Given the description of an element on the screen output the (x, y) to click on. 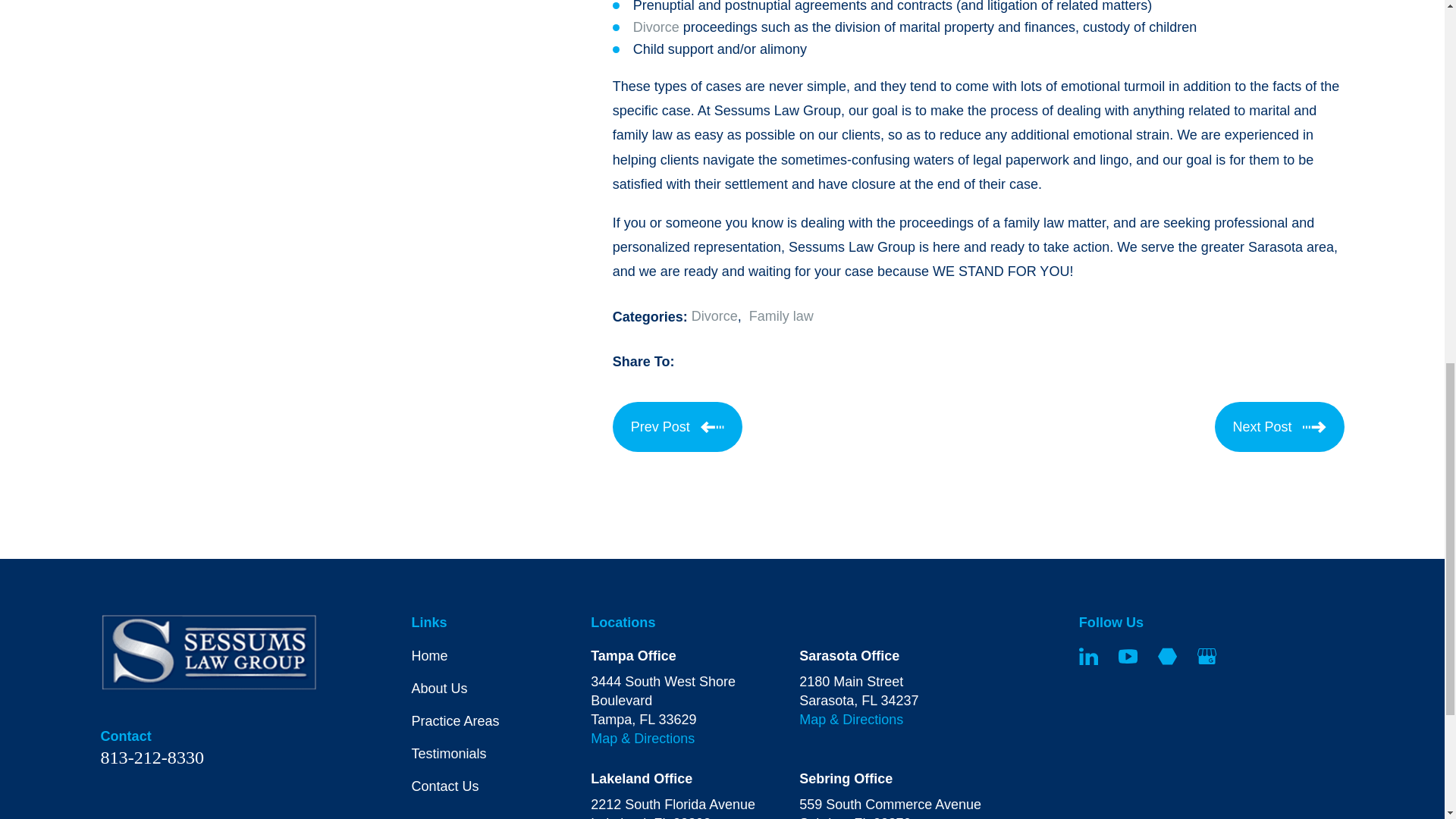
YouTube (1127, 656)
Home (209, 652)
Martindale (1166, 656)
Google Business Profile (1205, 656)
LinkedIn (1087, 656)
